Given the description of an element on the screen output the (x, y) to click on. 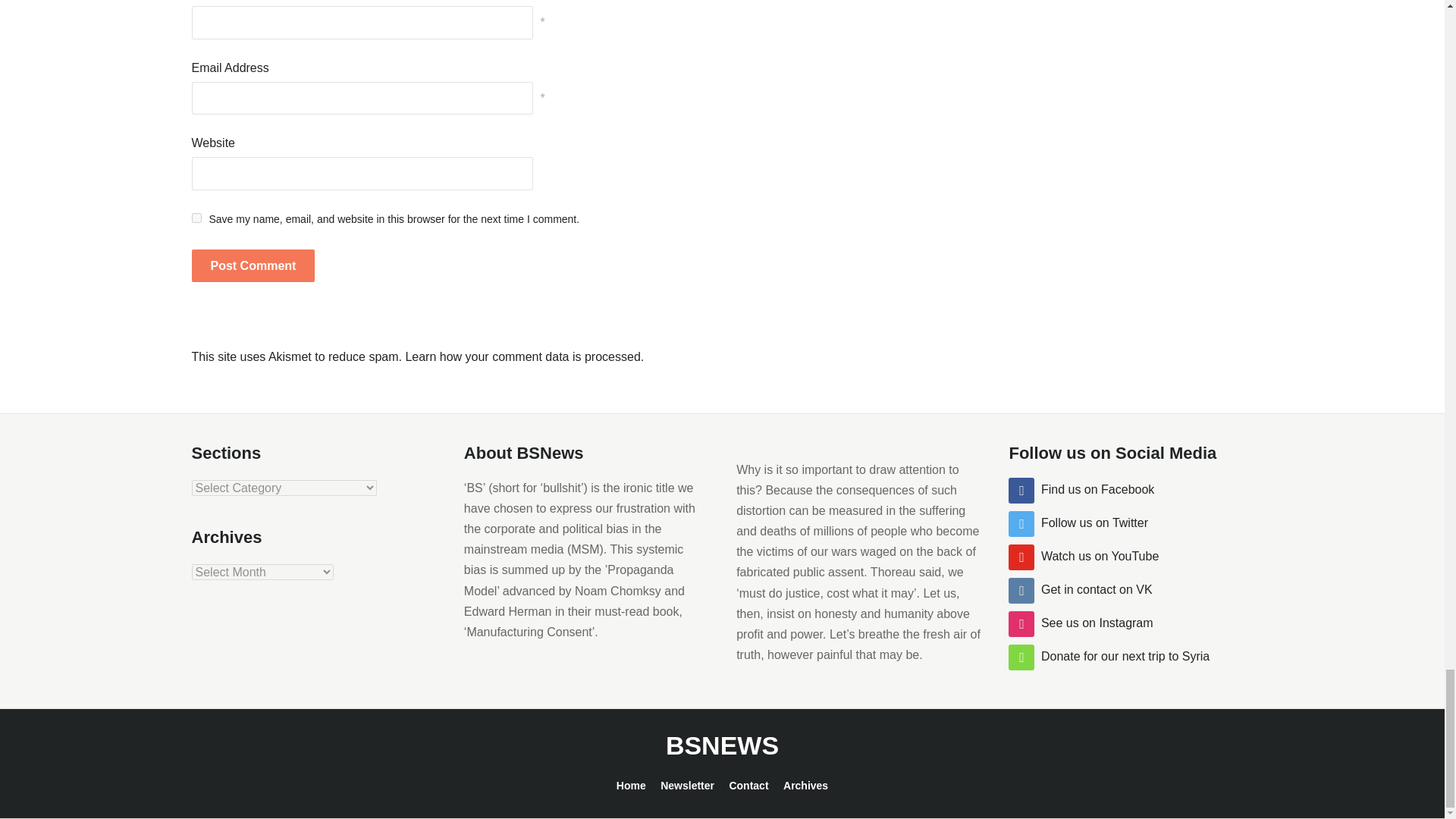
yes (195, 217)
Post Comment (252, 265)
